Given the description of an element on the screen output the (x, y) to click on. 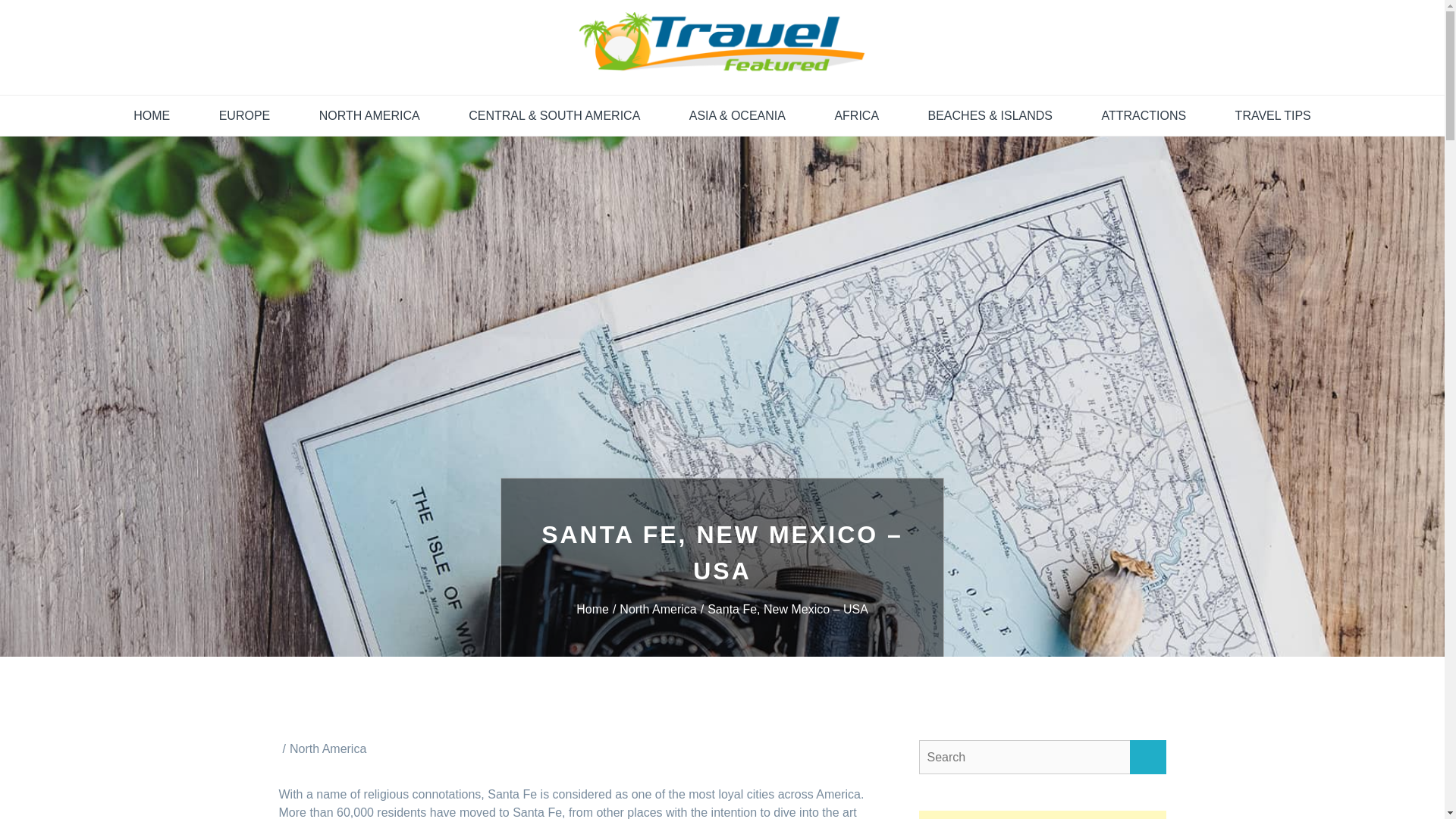
North America (663, 608)
EUROPE (245, 115)
ATTRACTIONS (1143, 115)
North America (327, 748)
Home (598, 608)
TRAVEL TIPS (1272, 115)
TRAVEL FEATURED (466, 97)
HOME (151, 115)
AFRICA (855, 115)
